Given the description of an element on the screen output the (x, y) to click on. 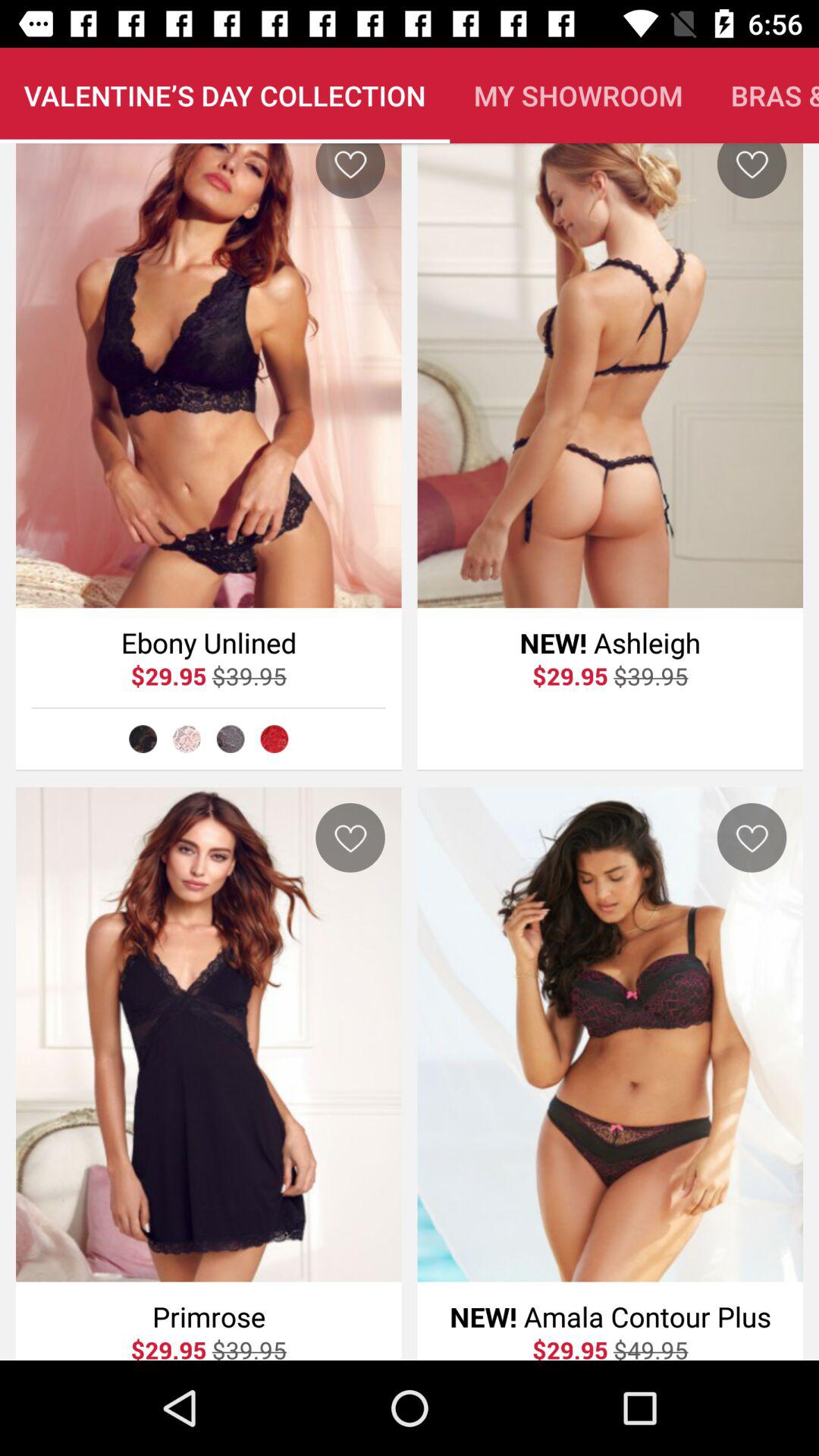
select color (230, 738)
